Given the description of an element on the screen output the (x, y) to click on. 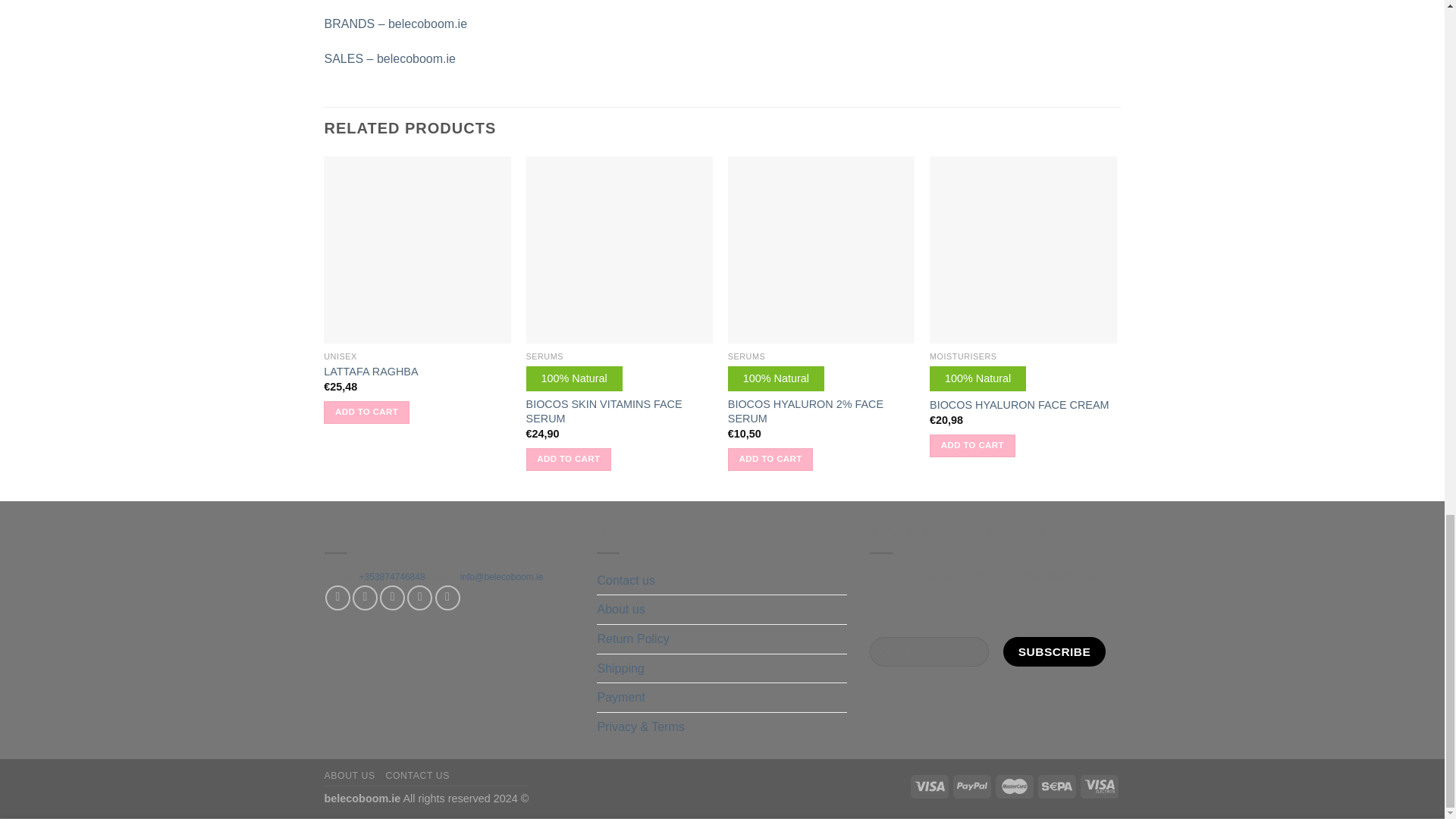
Subscribe (1054, 651)
